Given the description of an element on the screen output the (x, y) to click on. 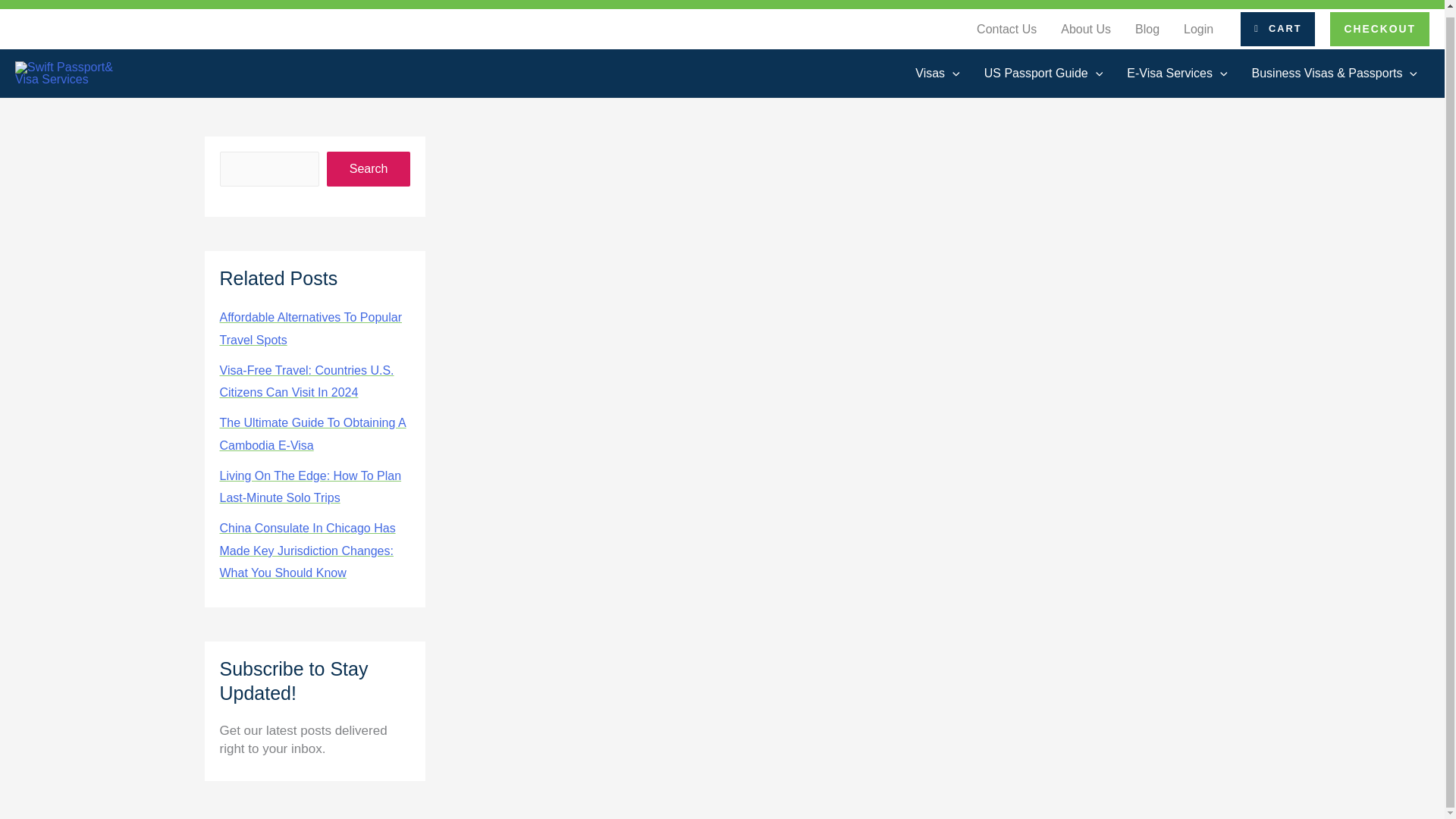
About Us (1085, 29)
CHECKOUT (1379, 29)
CART (1277, 28)
Login (1198, 29)
Contact Us (1005, 29)
US Passport Guide (1043, 73)
Visas (936, 73)
E-Visa Services (1177, 73)
Blog (1147, 29)
